Given the description of an element on the screen output the (x, y) to click on. 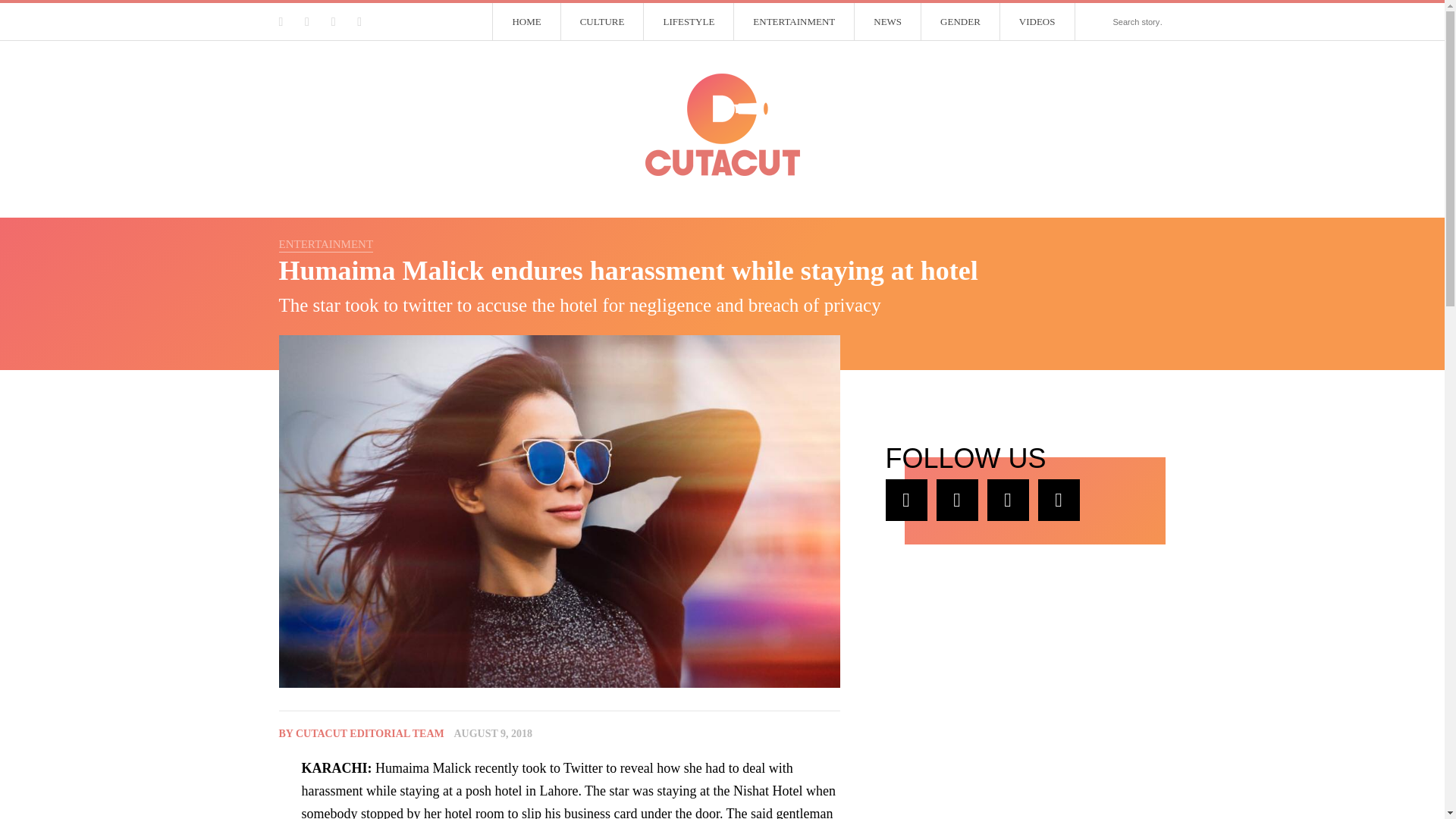
VIDEOS (1037, 21)
LIFESTYLE (688, 21)
HOME (526, 21)
ENTERTAINMENT (793, 21)
ENTERTAINMENT (326, 244)
BY CUTACUT EDITORIAL TEAM (361, 733)
CULTURE (602, 21)
GENDER (960, 21)
NEWS (887, 21)
